Given the description of an element on the screen output the (x, y) to click on. 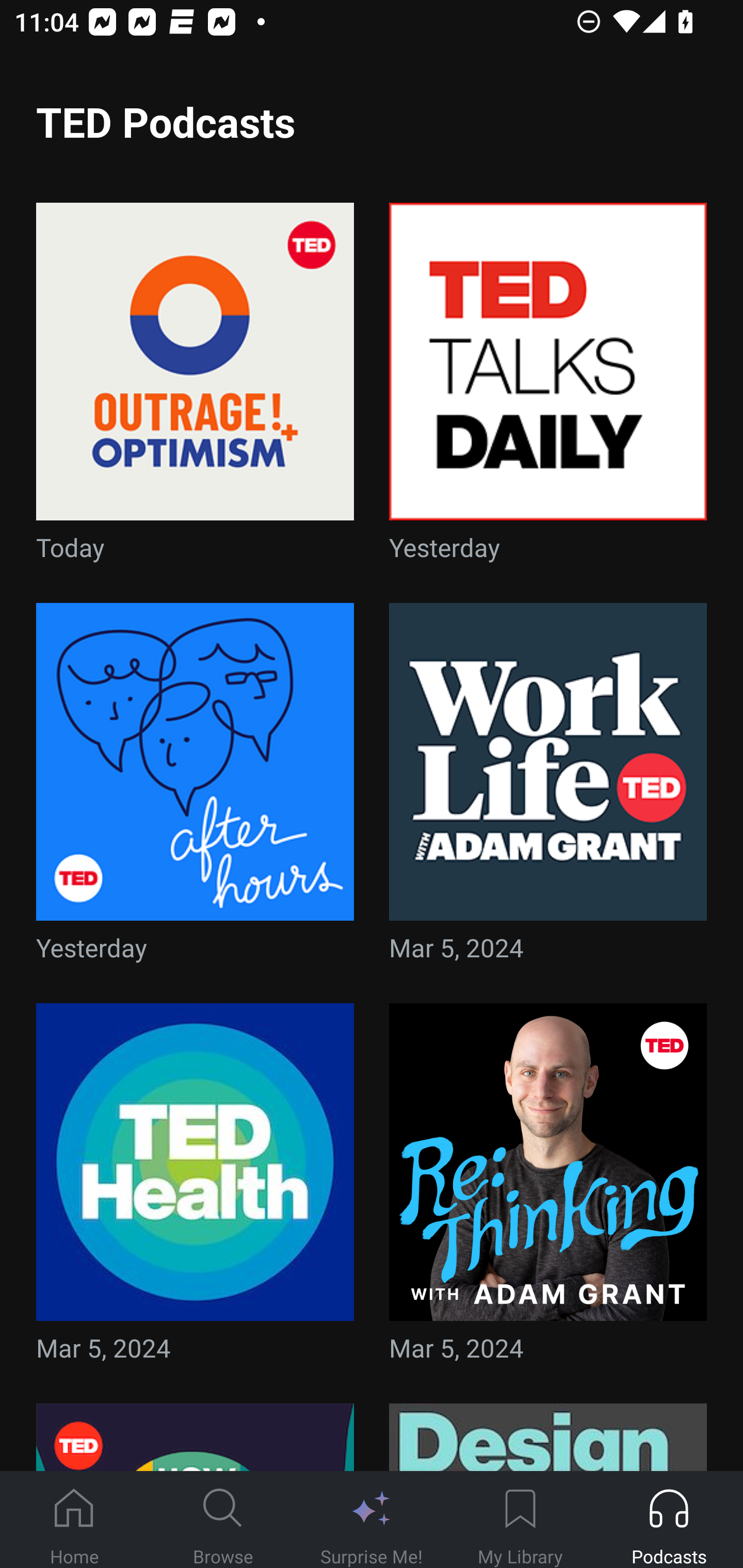
Today (194, 387)
Yesterday (547, 387)
Yesterday (194, 788)
Mar 5, 2024 (547, 788)
Mar 5, 2024 (194, 1189)
Mar 5, 2024 (547, 1189)
Home (74, 1520)
Browse (222, 1520)
Surprise Me! (371, 1520)
My Library (519, 1520)
Podcasts (668, 1520)
